Given the description of an element on the screen output the (x, y) to click on. 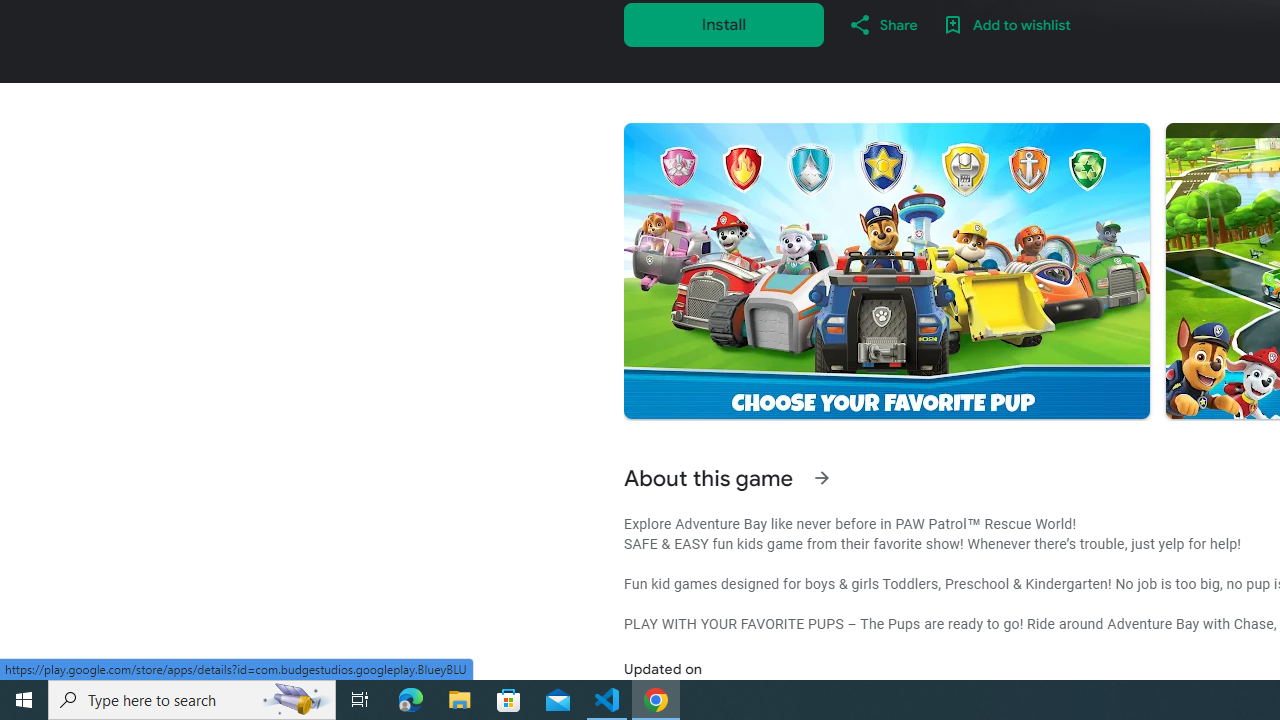
Share (881, 24)
See more information on About this game (821, 477)
Screenshot image (886, 271)
Add to wishlist (1006, 24)
Install (723, 24)
